Given the description of an element on the screen output the (x, y) to click on. 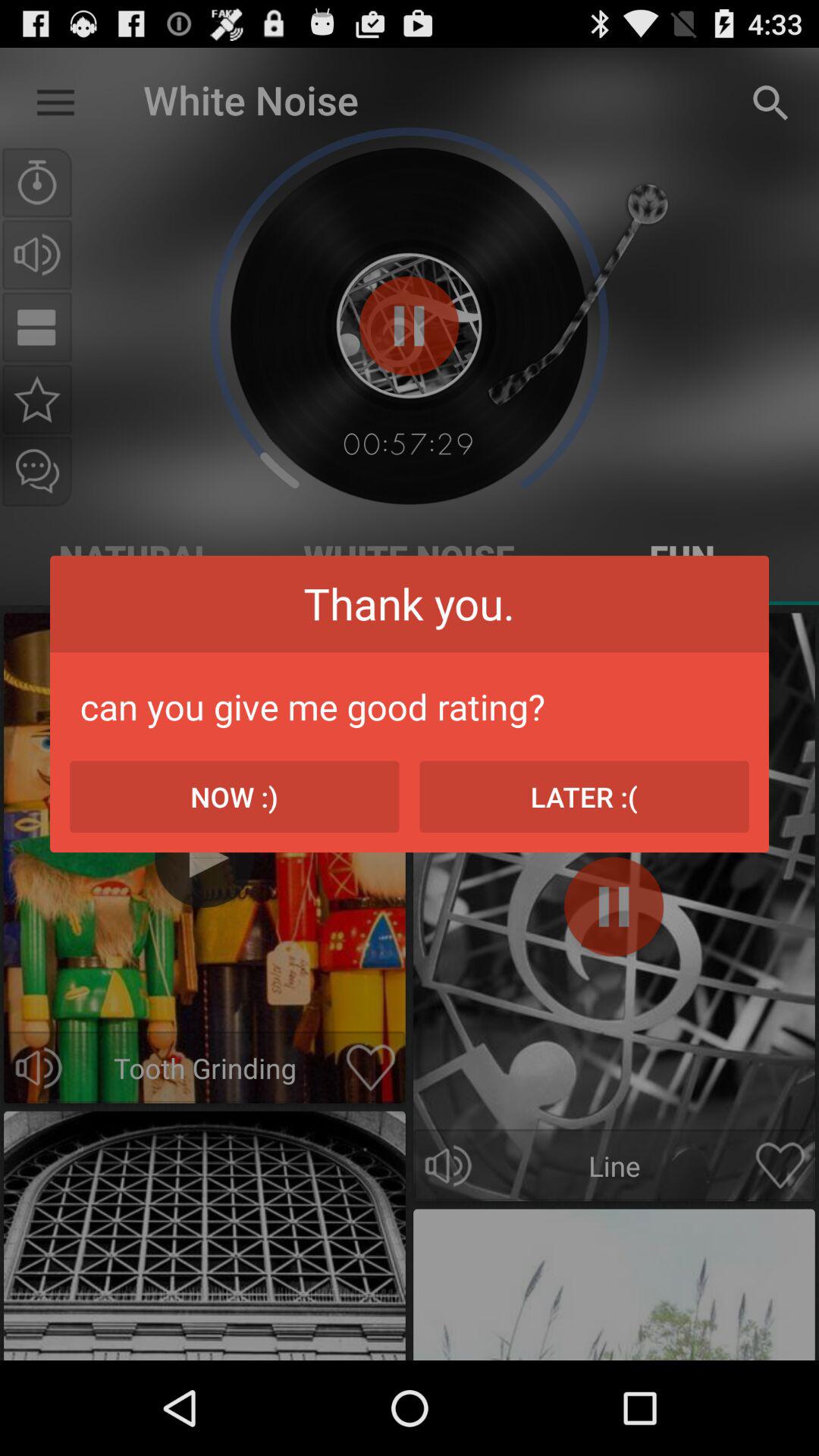
click the item next to the later :( item (234, 796)
